Given the description of an element on the screen output the (x, y) to click on. 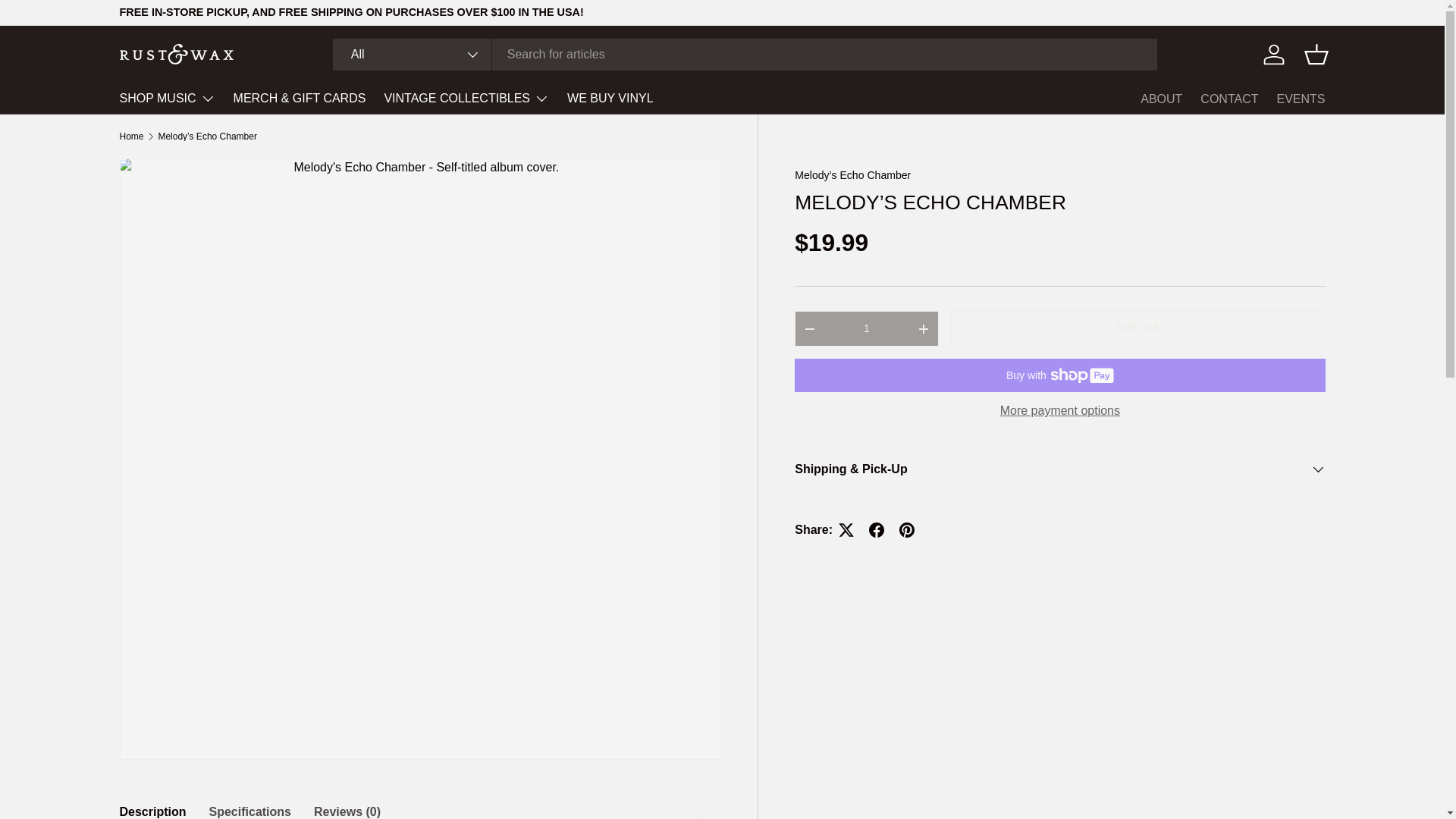
Share on Facebook (876, 530)
1 (866, 327)
Home (131, 135)
Pin on Pinterest (906, 530)
Log in (1273, 54)
- (809, 328)
Skip to content (68, 21)
All (412, 54)
VINTAGE COLLECTIBLES (466, 98)
ABOUT (1161, 98)
